Given the description of an element on the screen output the (x, y) to click on. 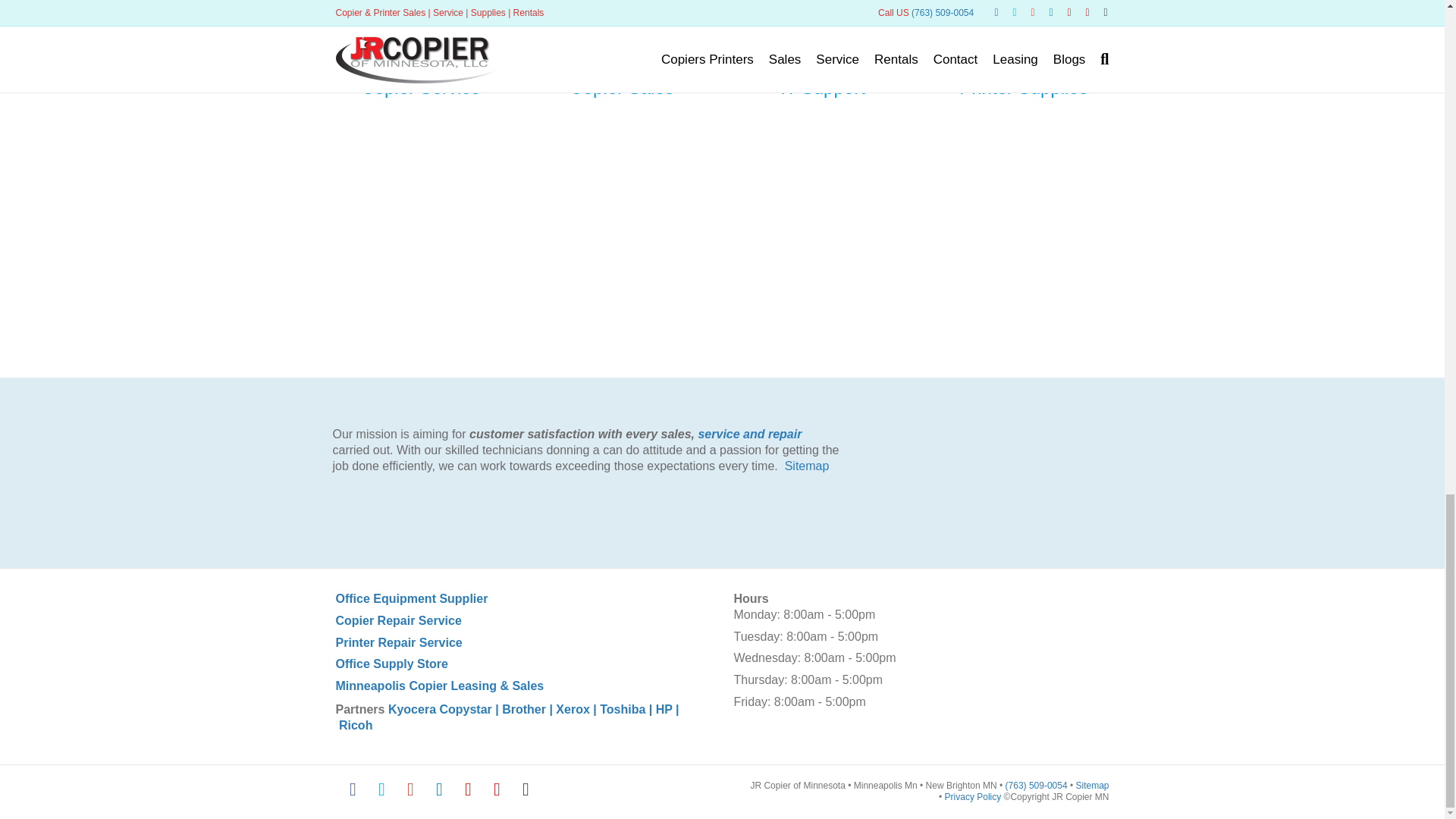
Copier Service (420, 86)
IT Support (822, 86)
JR-Web-Logo1 (992, 443)
Printer Supplies (1023, 86)
